Given the description of an element on the screen output the (x, y) to click on. 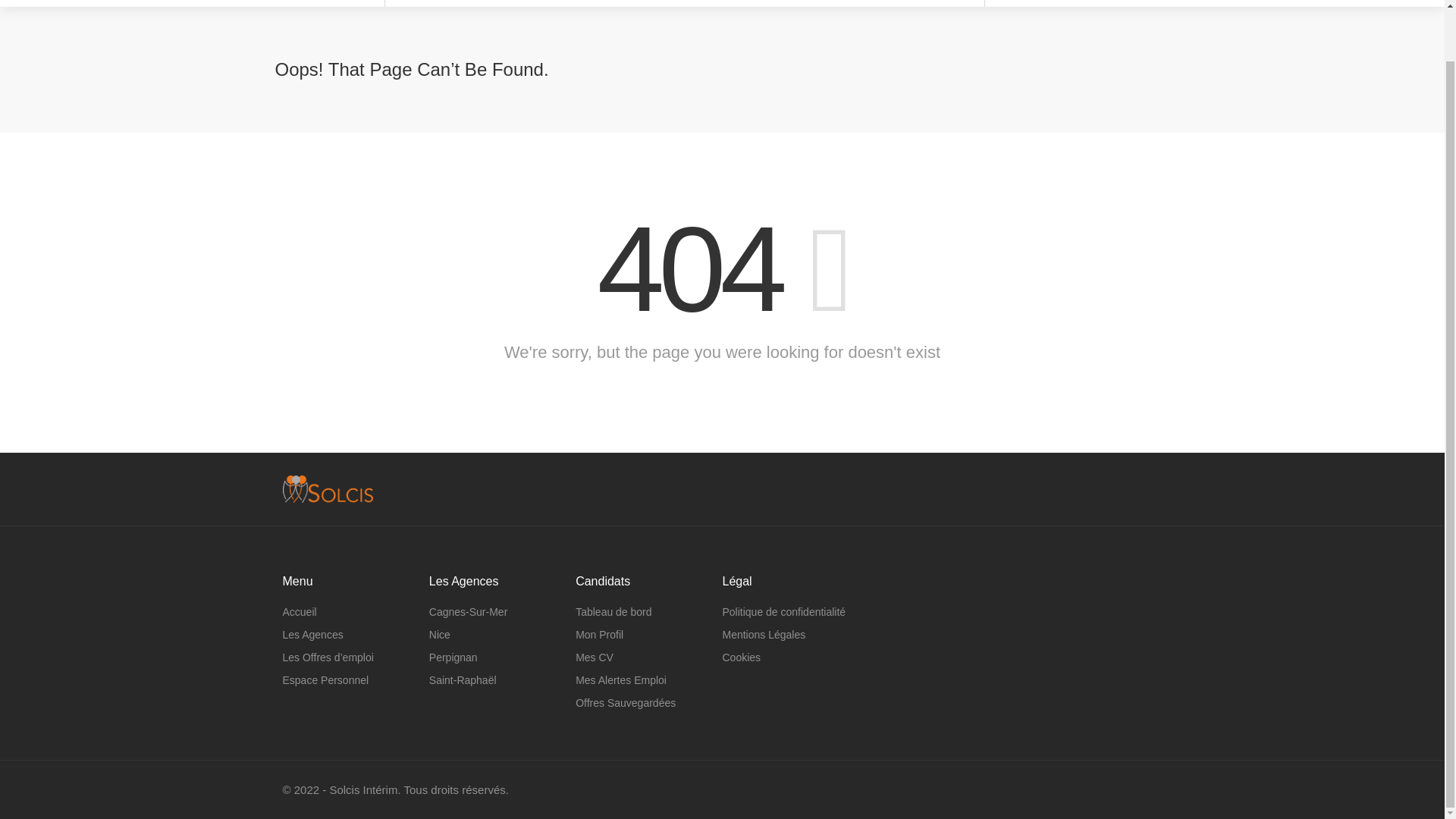
Espace Personnel (325, 680)
Mes Alertes Emploi (620, 680)
Les Agences (312, 634)
Cagnes-Sur-Mer (467, 611)
Cookies (741, 657)
Mon Profil (599, 634)
Tableau de bord (612, 611)
Nice (439, 634)
Mes CV (593, 657)
Perpignan (453, 657)
Accueil (298, 611)
